Given the description of an element on the screen output the (x, y) to click on. 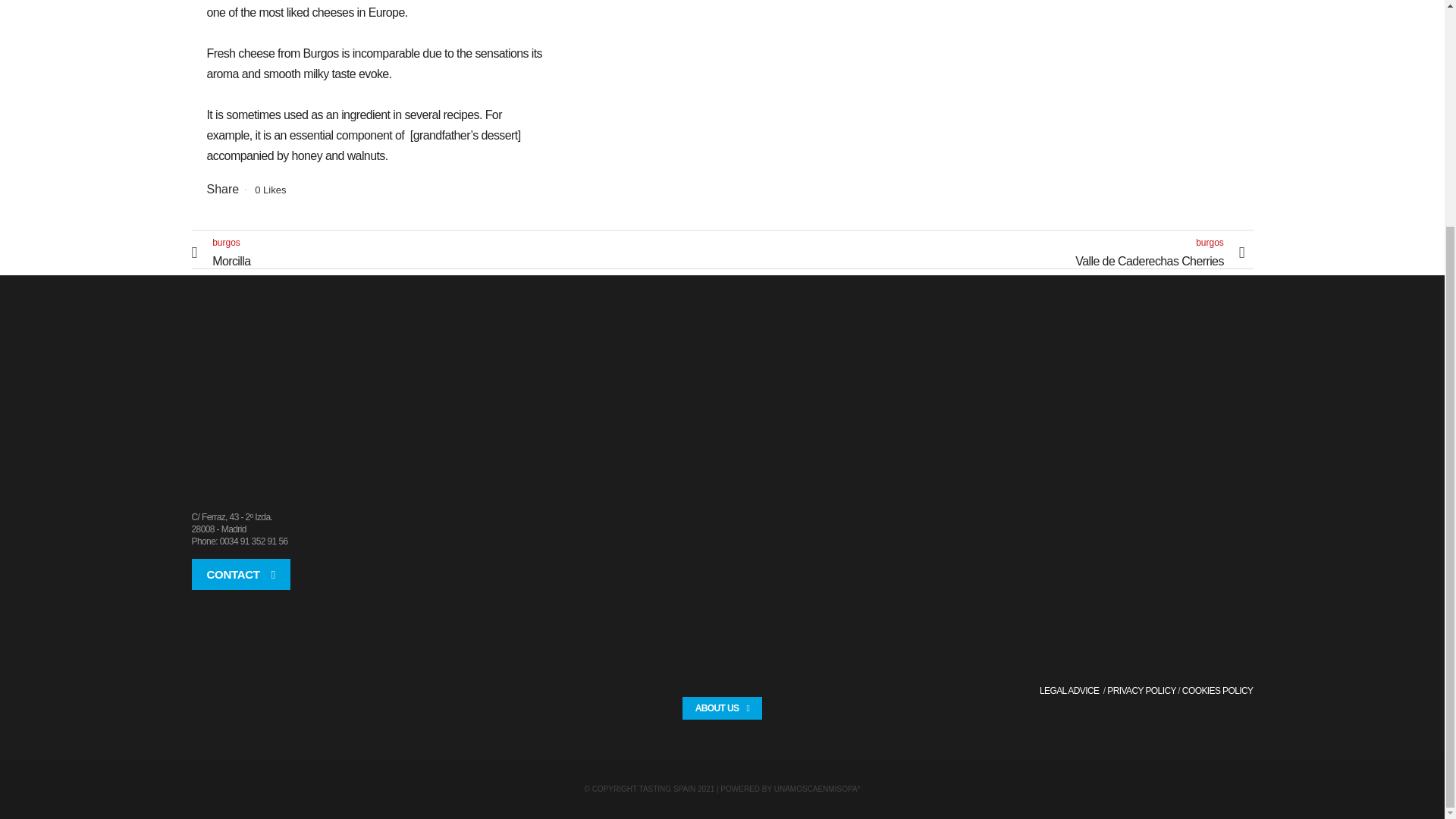
Like this (269, 189)
